Given the description of an element on the screen output the (x, y) to click on. 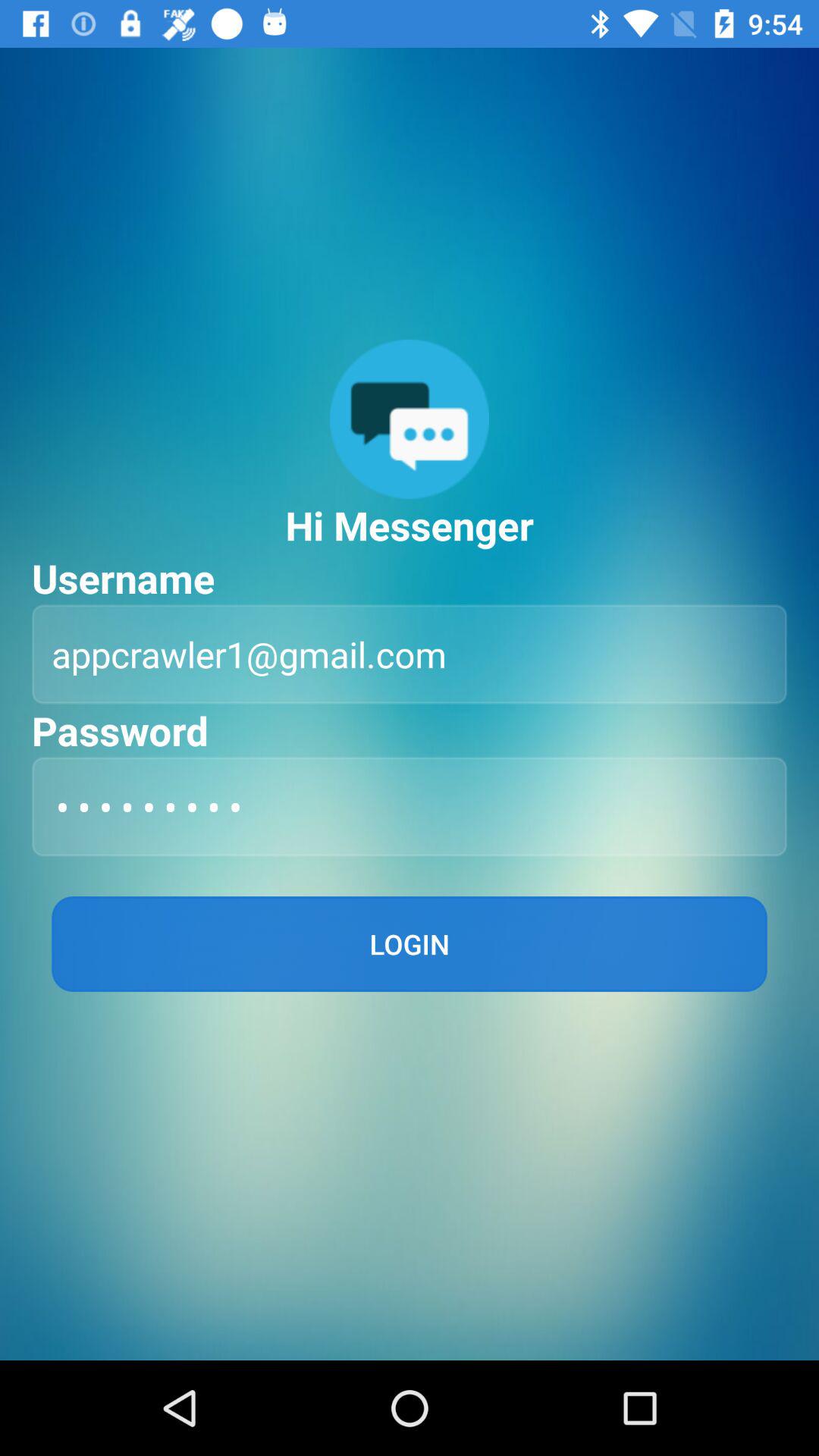
flip until the login icon (409, 943)
